Given the description of an element on the screen output the (x, y) to click on. 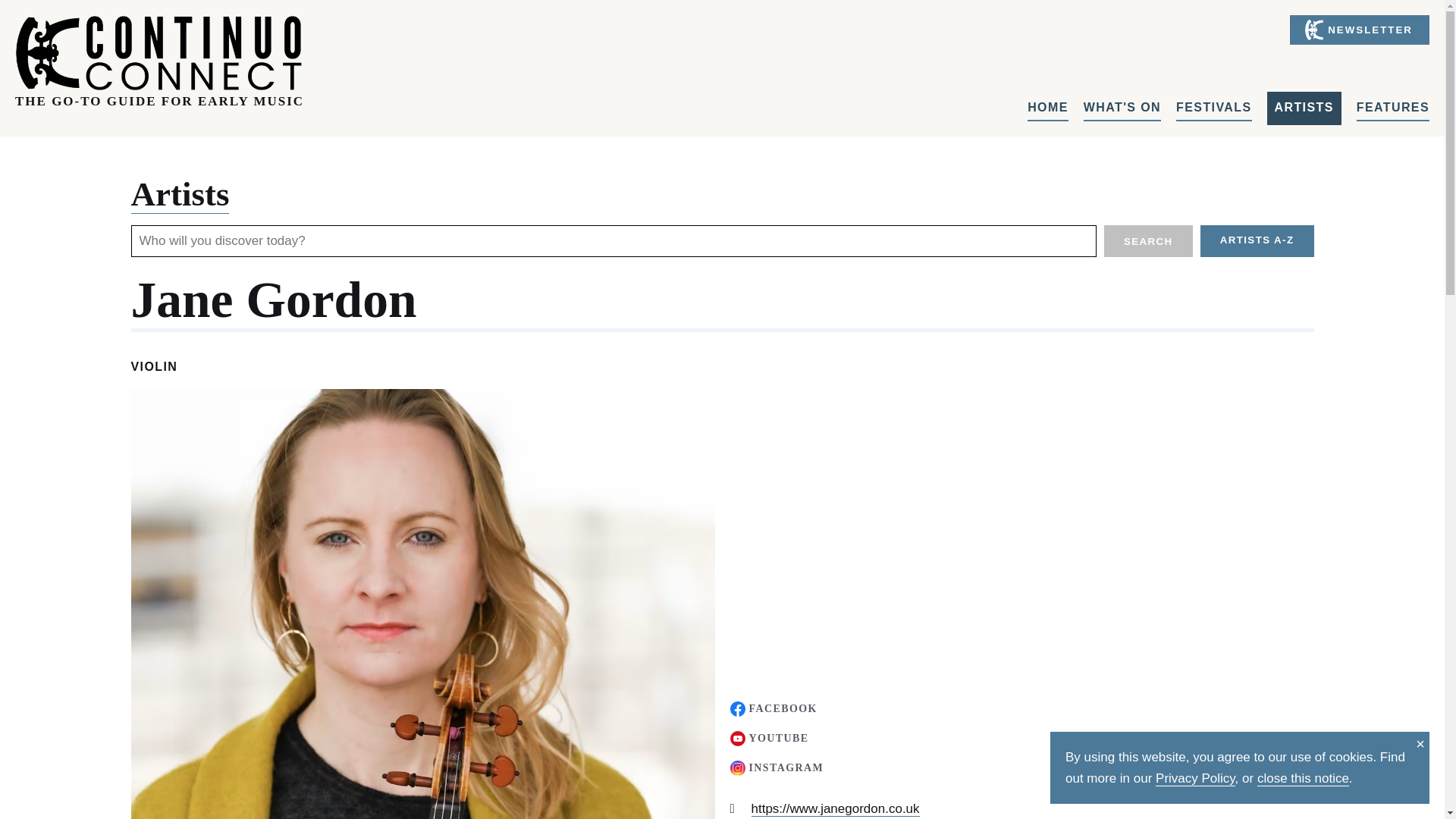
FEATURES (1392, 108)
NEWSLETTER (1359, 30)
ARTISTS A-Z (1256, 241)
Privacy Policy (1195, 777)
ARTISTS (1303, 108)
SEARCH (1147, 241)
Artists (179, 194)
INSTAGRAM (776, 767)
FESTIVALS (1213, 108)
WHAT'S ON (1121, 108)
HOME (1047, 108)
close this notice (1303, 777)
YOUTUBE (768, 737)
FACEBOOK (772, 708)
